Given the description of an element on the screen output the (x, y) to click on. 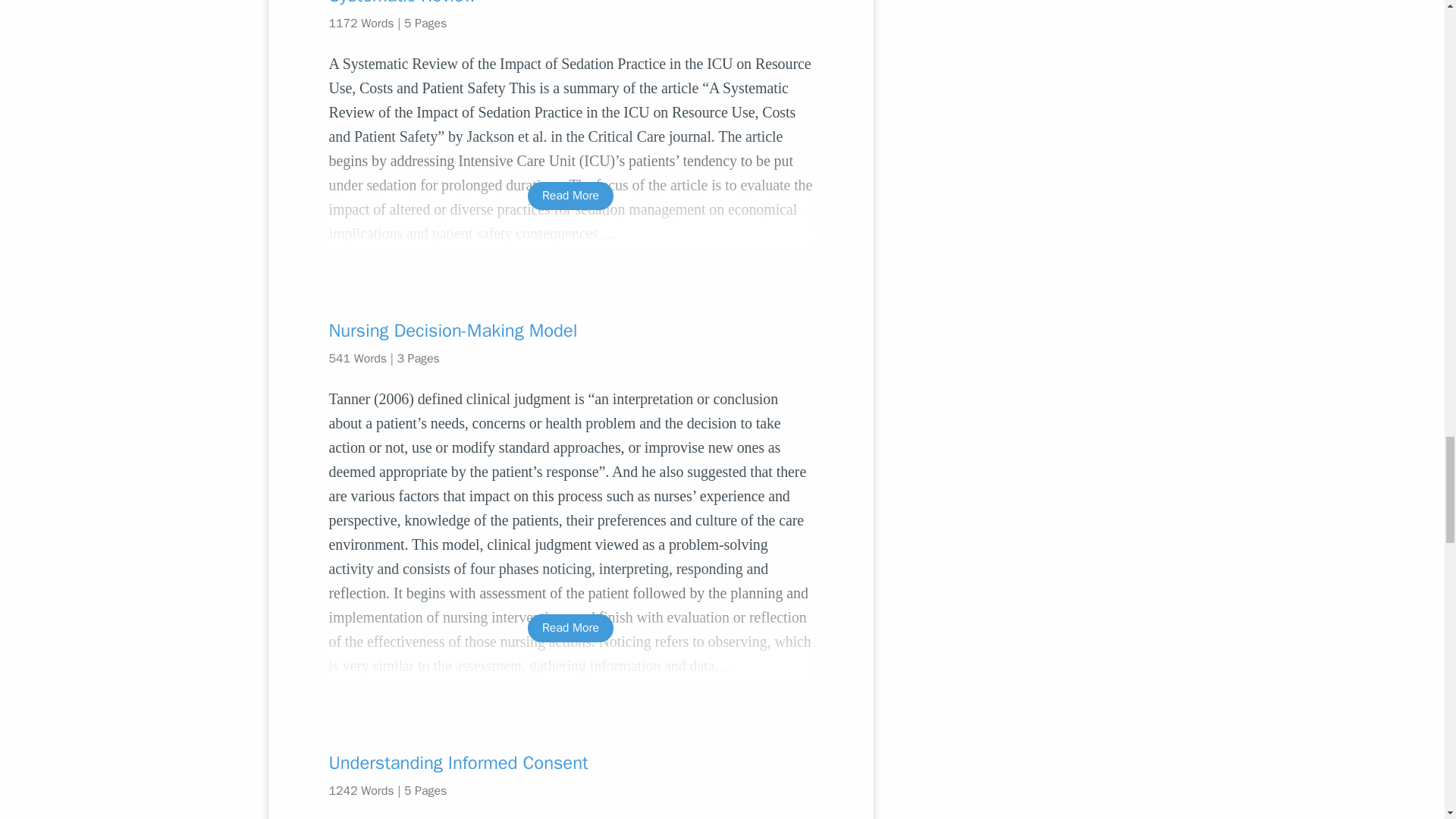
Nursing Decision-Making Model (570, 330)
Understanding Informed Consent (570, 762)
Read More (569, 628)
Read More (569, 195)
Systematic Review (570, 3)
